Given the description of an element on the screen output the (x, y) to click on. 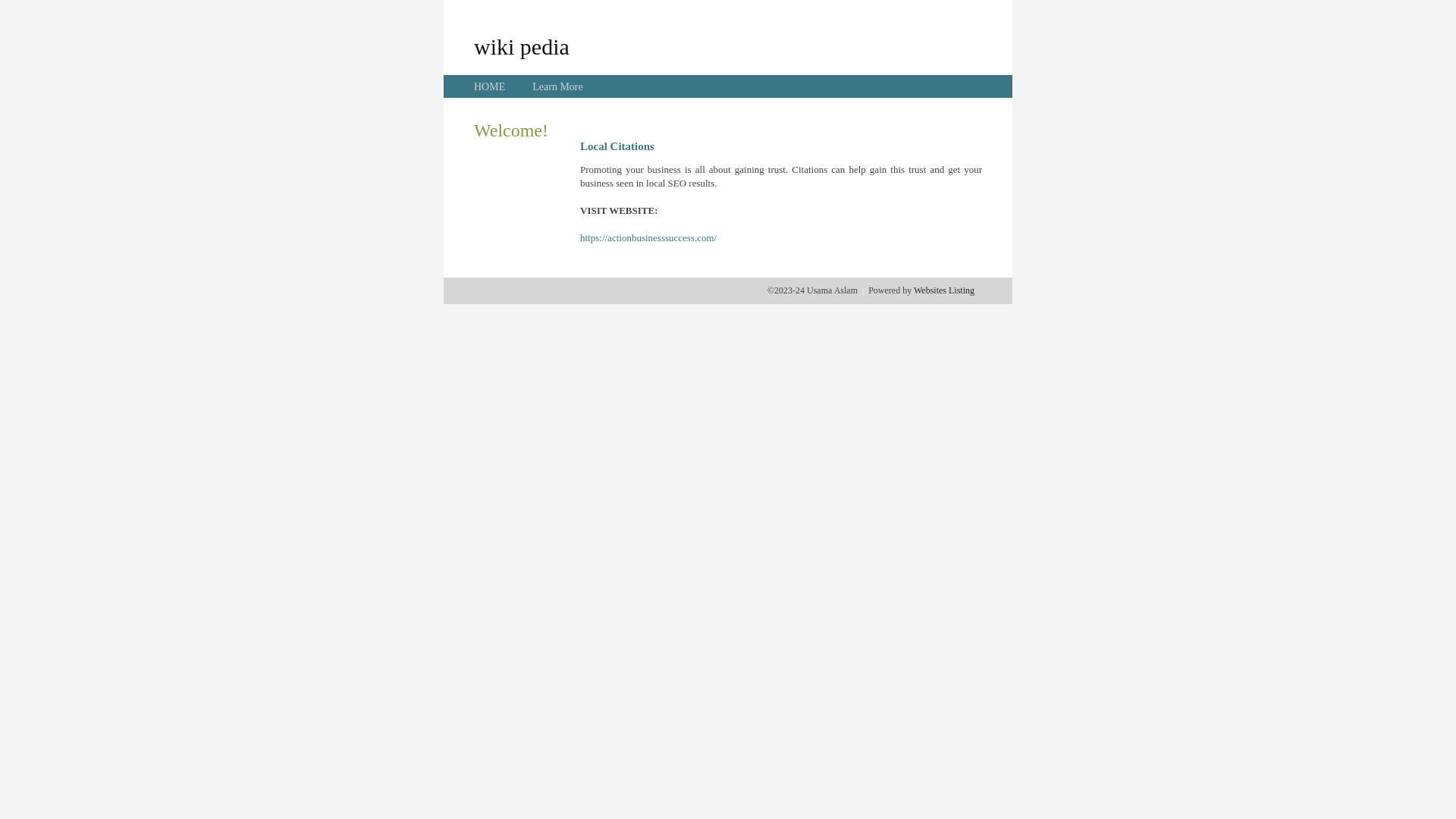
Learn More Element type: text (557, 86)
https://actionbusinesssuccess.com/ Element type: text (648, 237)
Websites Listing Element type: text (943, 290)
HOME Element type: text (489, 86)
wiki pedia Element type: text (521, 46)
